Given the description of an element on the screen output the (x, y) to click on. 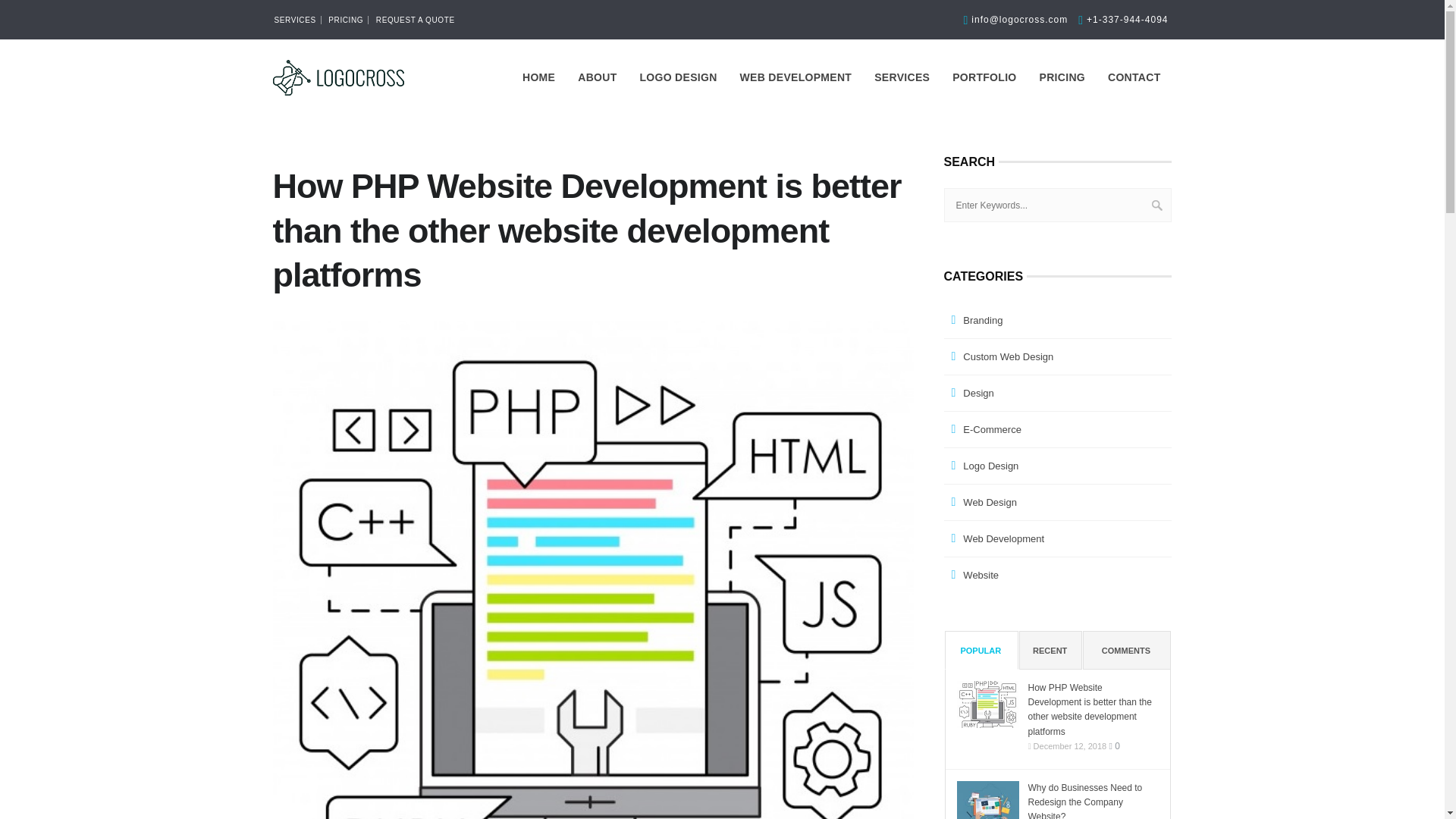
WEB DEVELOPMENT (796, 77)
LOGO DESIGN (677, 77)
PRICING (1061, 77)
REQUEST A QUOTE (415, 19)
CONTACT (1134, 77)
SERVICES (295, 19)
PRICING (345, 19)
SERVICES (901, 77)
PORTFOLIO (983, 77)
